Given the description of an element on the screen output the (x, y) to click on. 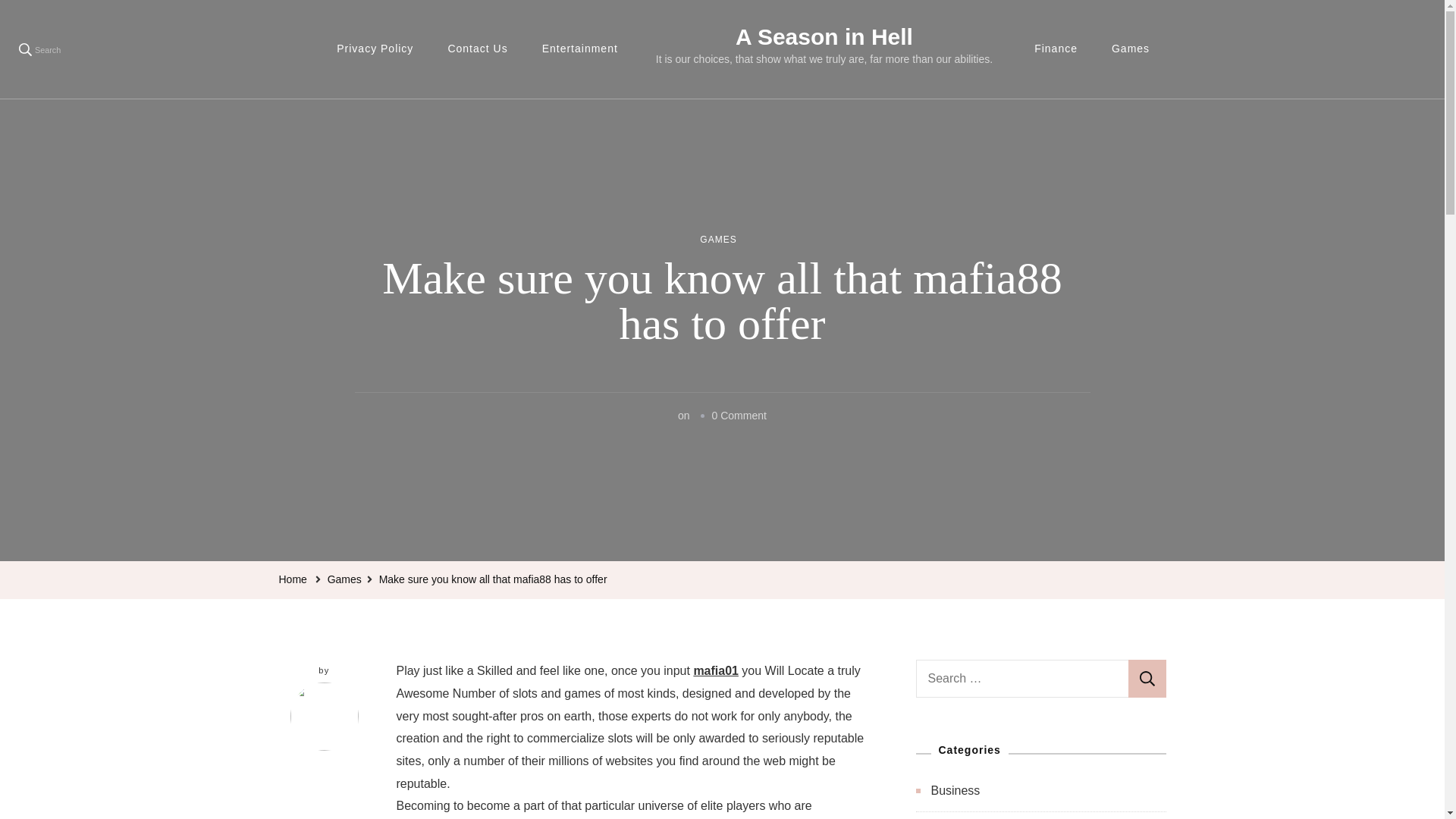
Contact Us (477, 49)
A Season in Hell (823, 36)
Make sure you know all that mafia88 has to offer (492, 579)
Games (1130, 49)
Home (293, 579)
GAMES (718, 240)
Entertainment (580, 49)
Search (1147, 678)
Privacy Policy (374, 49)
Search (1147, 678)
Games (344, 579)
mafia01 (715, 670)
Finance (1056, 49)
Search (39, 48)
